Given the description of an element on the screen output the (x, y) to click on. 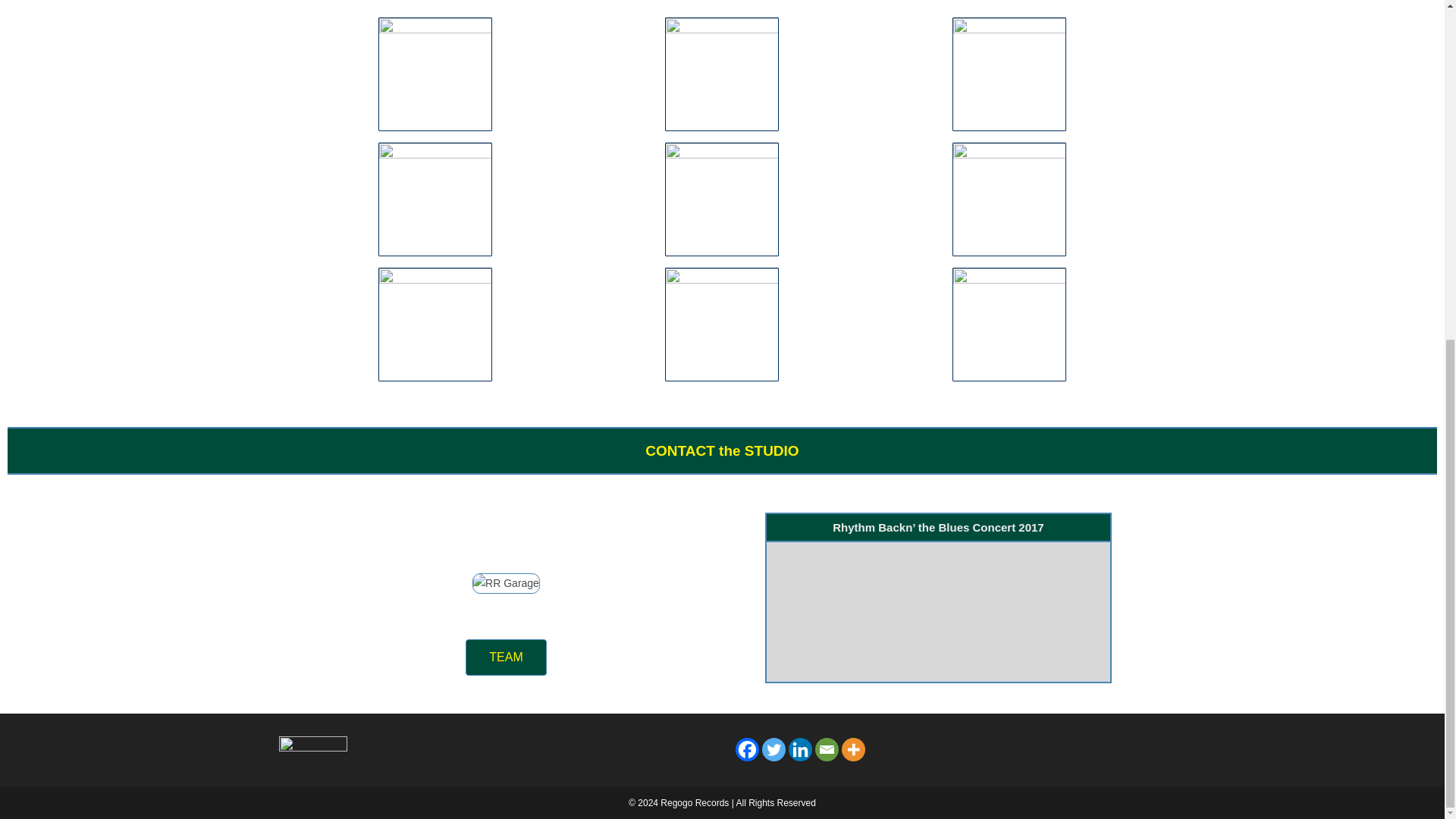
Email (825, 749)
RR Garage (505, 583)
Twitter (772, 749)
Facebook (746, 749)
Linkedin (800, 749)
More (852, 749)
